Given the description of an element on the screen output the (x, y) to click on. 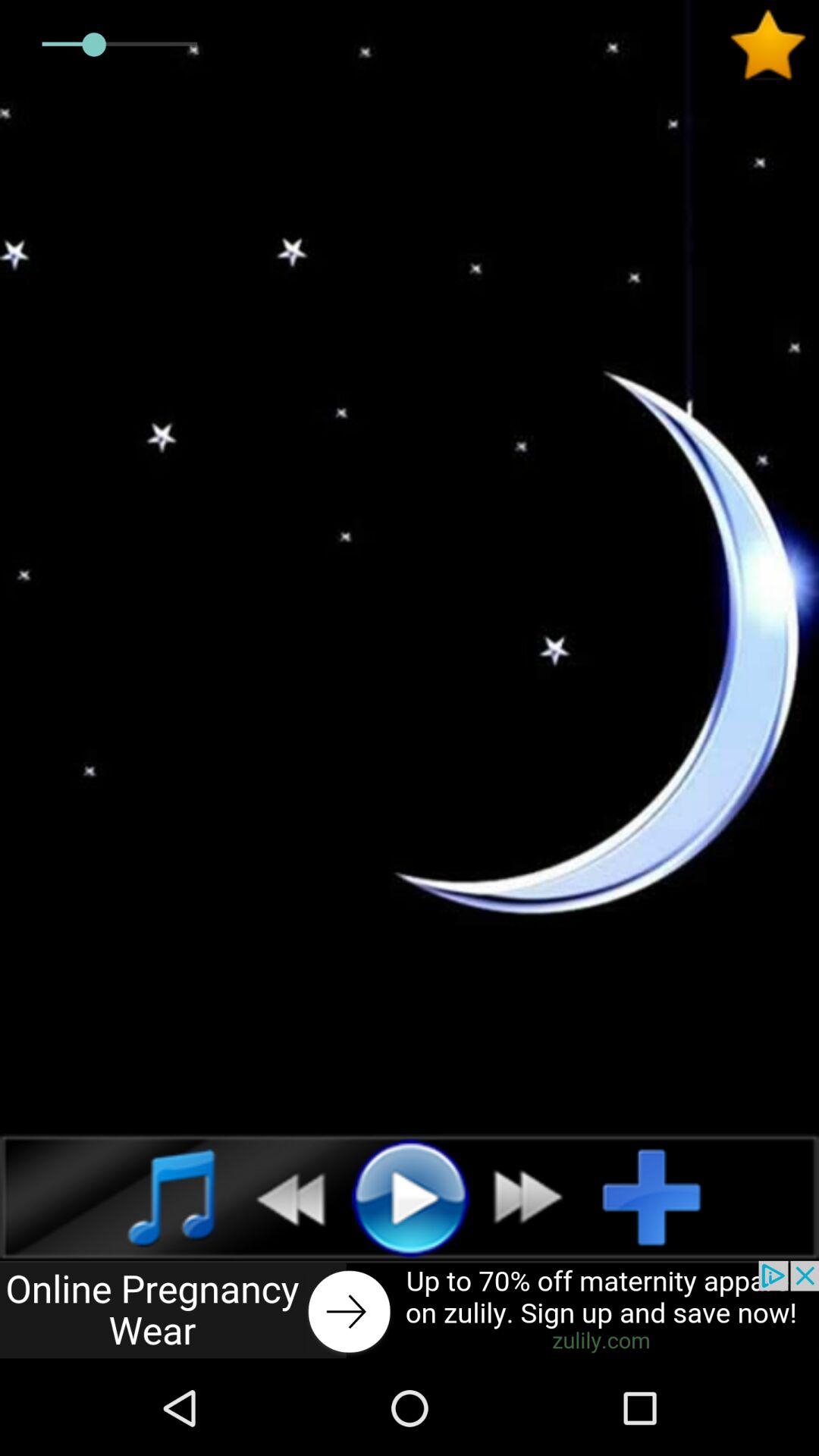
go to previous track (281, 1196)
